Given the description of an element on the screen output the (x, y) to click on. 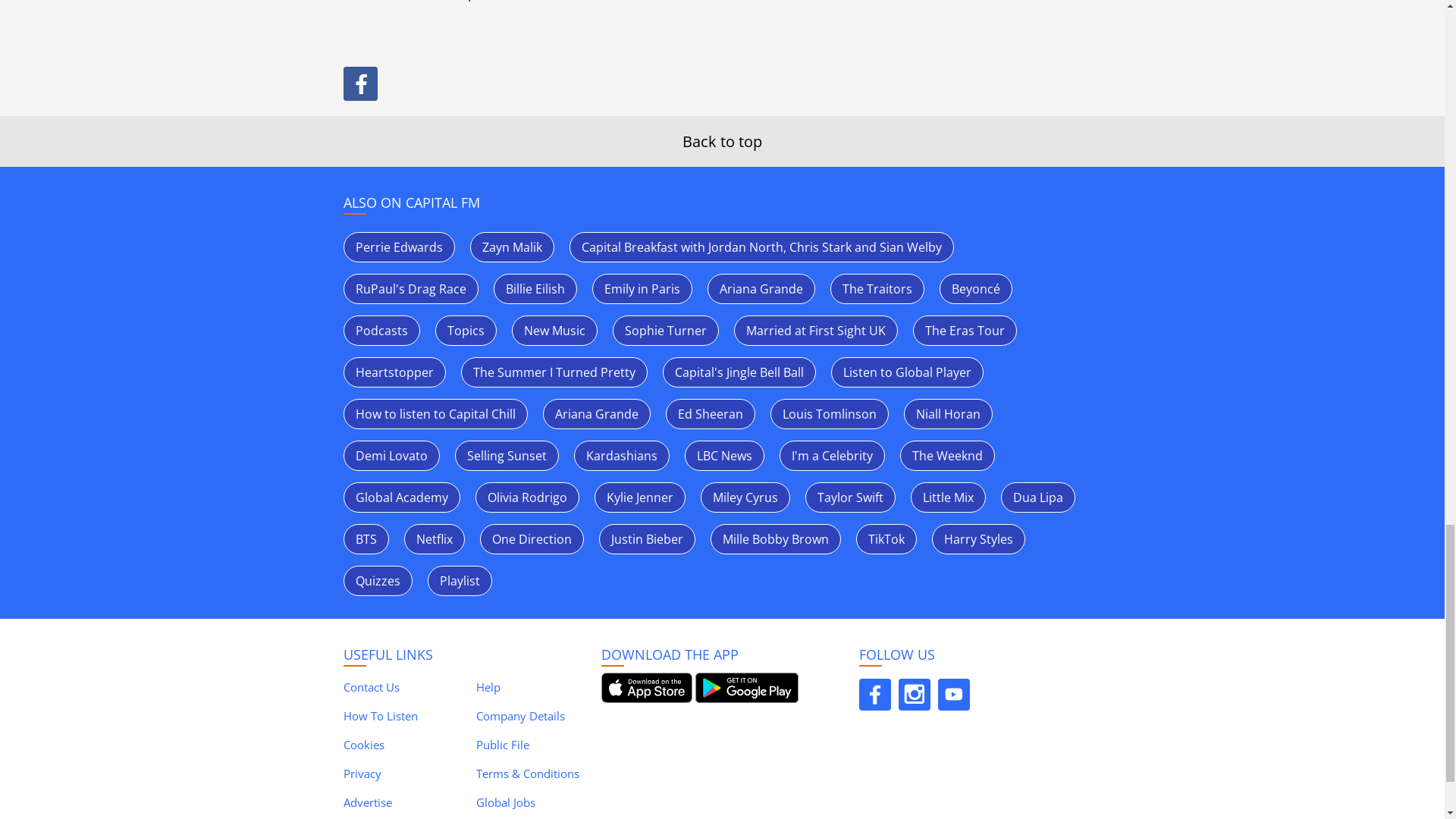
Follow Capital on Facebook (874, 694)
Follow Capital on Youtube (953, 694)
Back to top (721, 141)
Follow Capital on Instagram (914, 694)
